Given the description of an element on the screen output the (x, y) to click on. 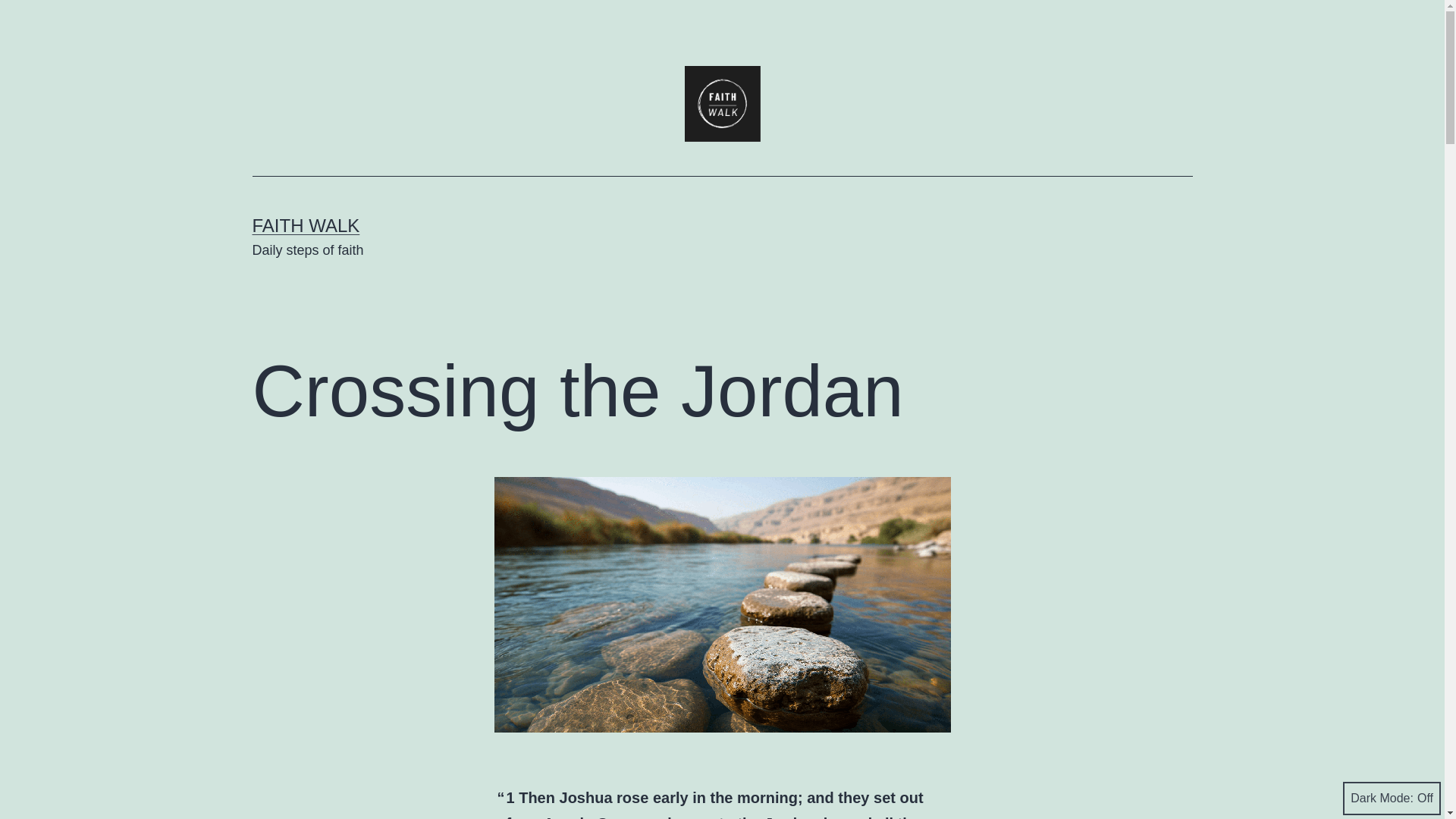
Dark Mode: (1391, 798)
FAITH WALK (305, 225)
